Given the description of an element on the screen output the (x, y) to click on. 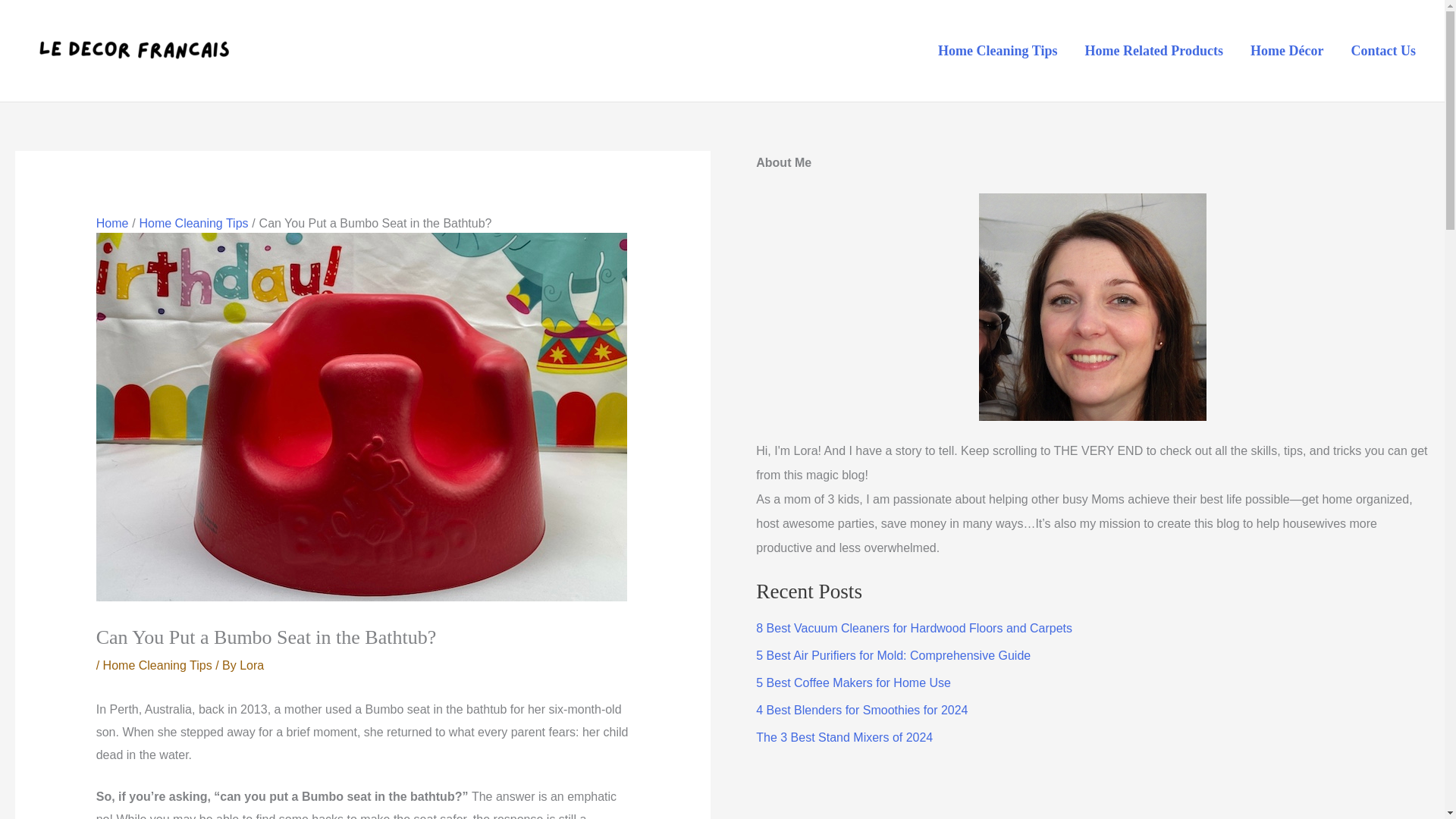
Home Related Products (1153, 50)
Home (112, 223)
5 Best Air Purifiers for Mold: Comprehensive Guide (892, 655)
Home Cleaning Tips (157, 665)
5 Best Coffee Makers for Home Use (852, 682)
View all posts by Lora (251, 665)
The 3 Best Stand Mixers of 2024 (844, 737)
Contact Us (1383, 50)
4 Best Blenders for Smoothies for 2024 (861, 709)
Home Cleaning Tips (997, 50)
